Given the description of an element on the screen output the (x, y) to click on. 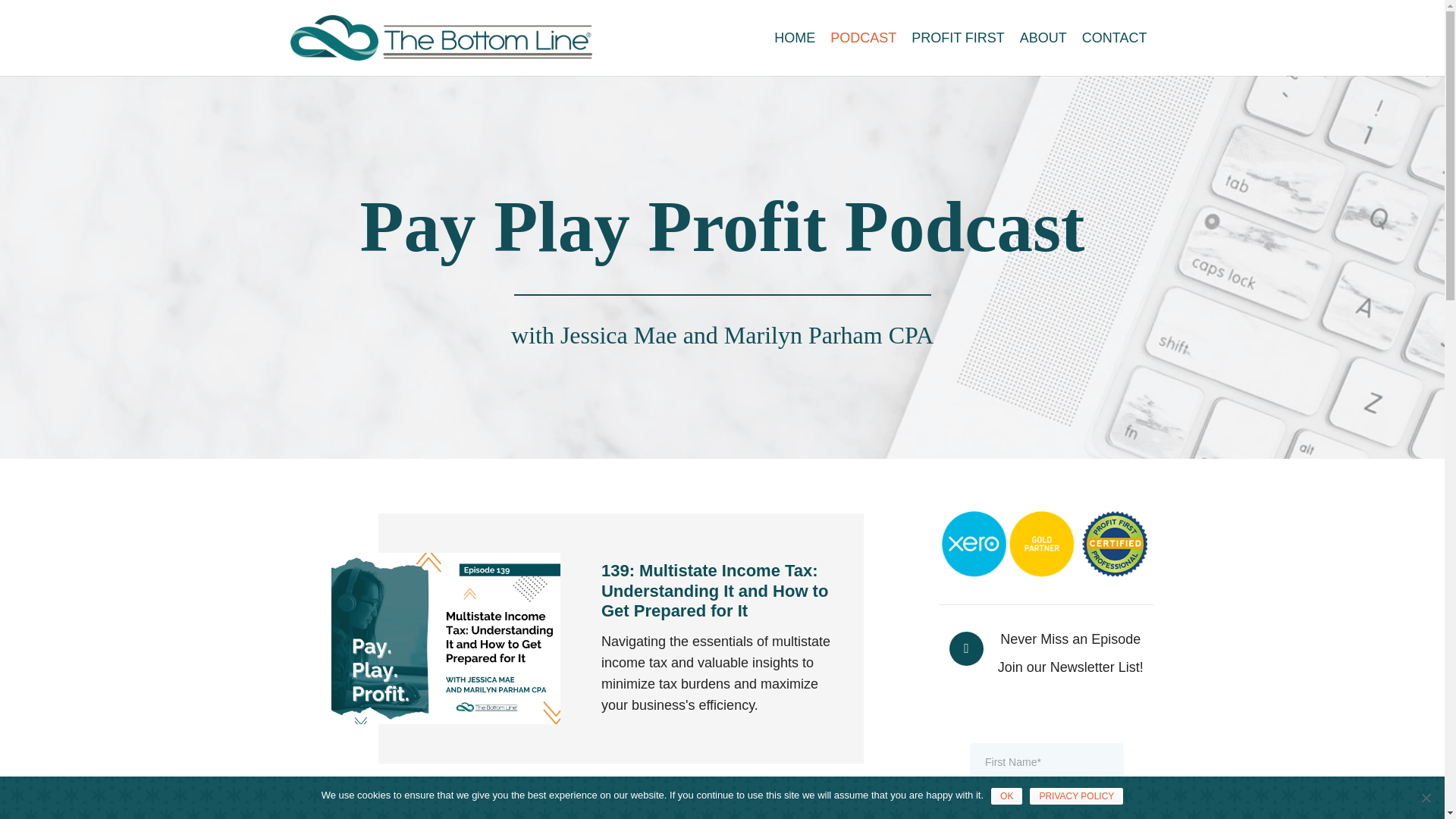
No (1425, 797)
PROFIT FIRST (957, 37)
OK (1006, 795)
ABOUT (1042, 37)
CONTACT (1114, 37)
PODCAST (863, 37)
HOME (794, 37)
PRIVACY POLICY (1075, 795)
